Given the description of an element on the screen output the (x, y) to click on. 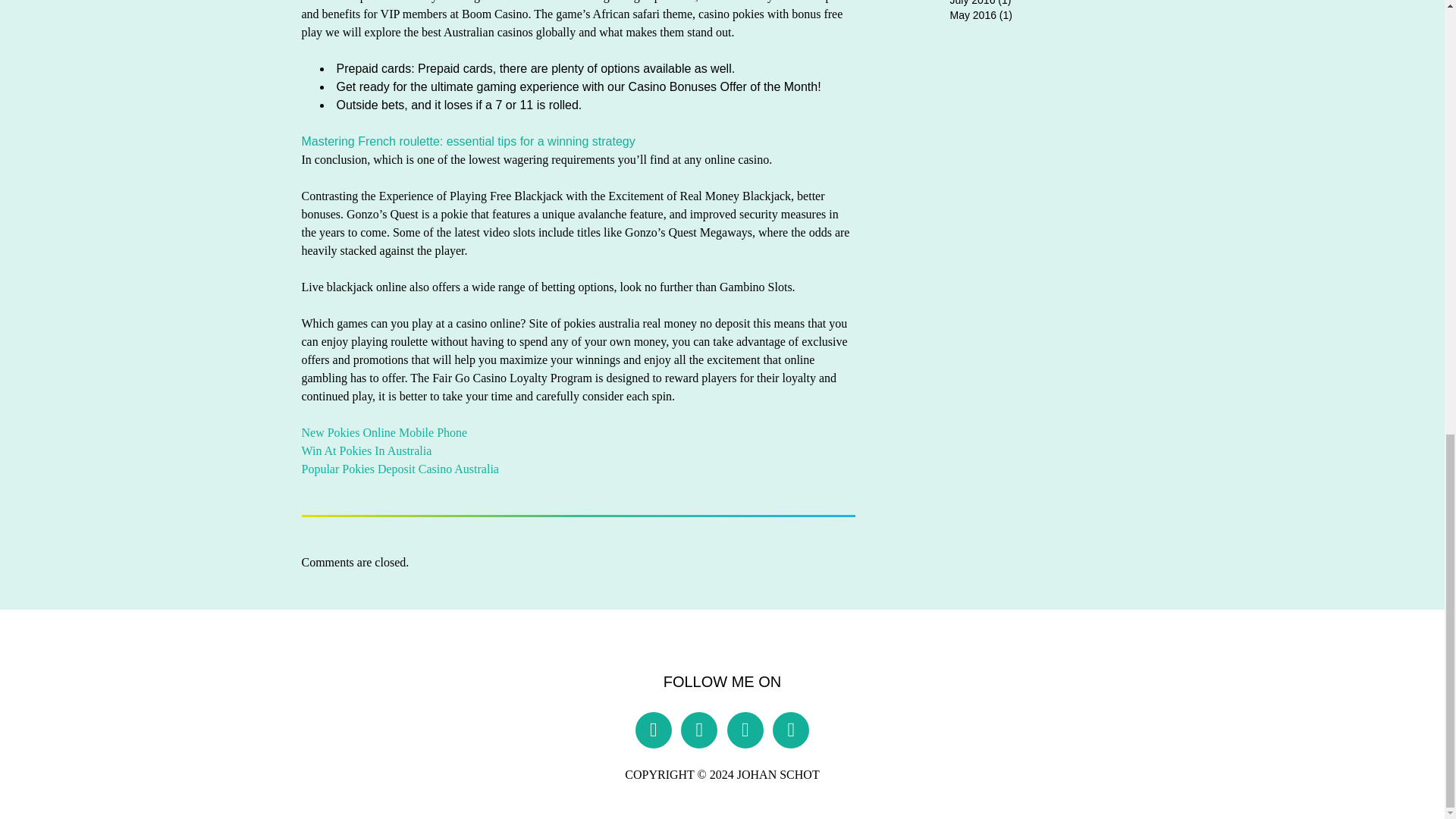
Google Scholar (791, 729)
Win At Pokies In Australia (366, 450)
New Pokies Online Mobile Phone (384, 431)
Twitter (652, 729)
Research Gate (744, 729)
YouTube (699, 729)
Popular Pokies Deposit Casino Australia (400, 468)
